Given the description of an element on the screen output the (x, y) to click on. 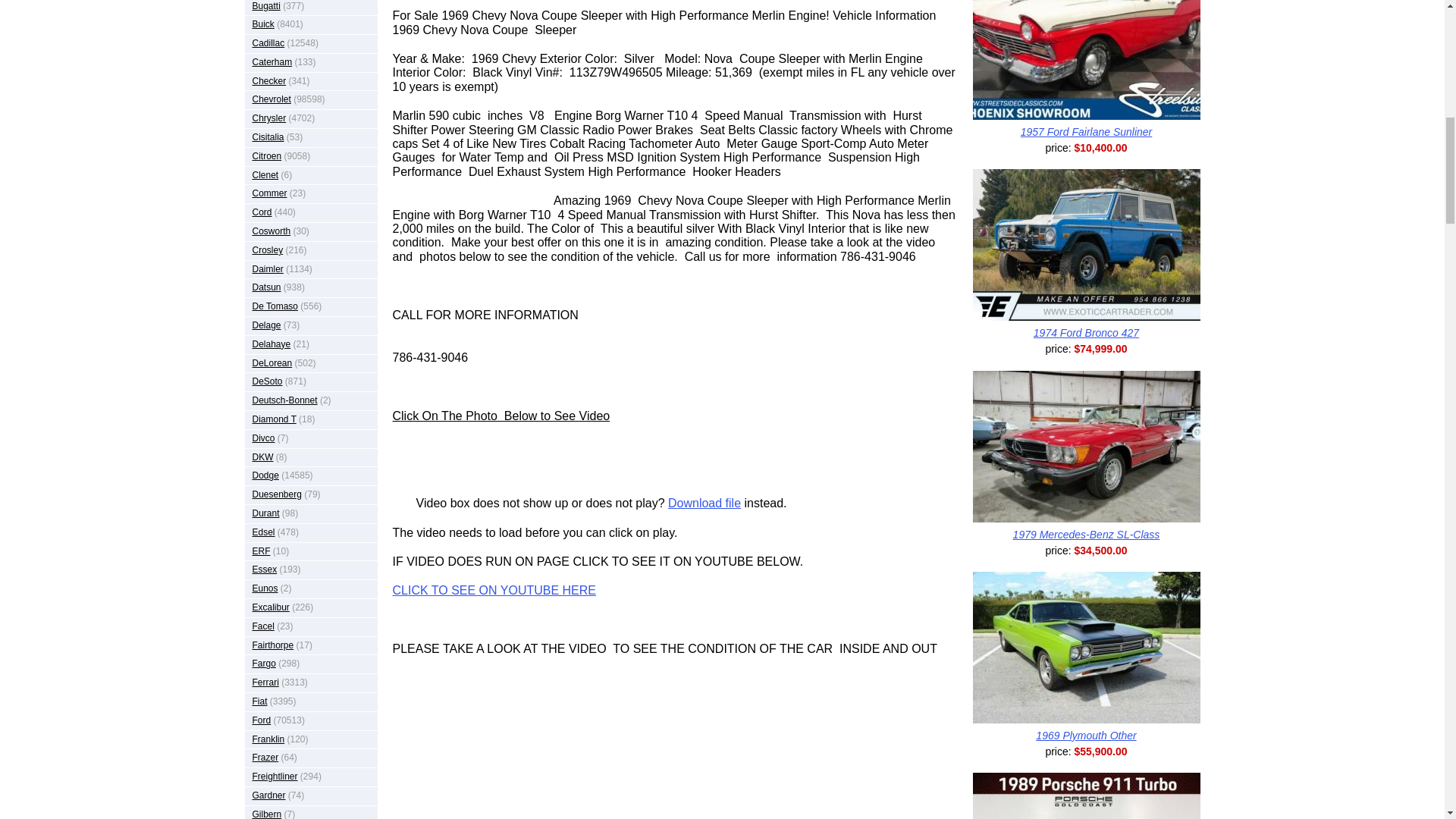
Buick (262, 23)
Cadillac (267, 42)
Bugatti (265, 5)
Caterham (271, 61)
